Given the description of an element on the screen output the (x, y) to click on. 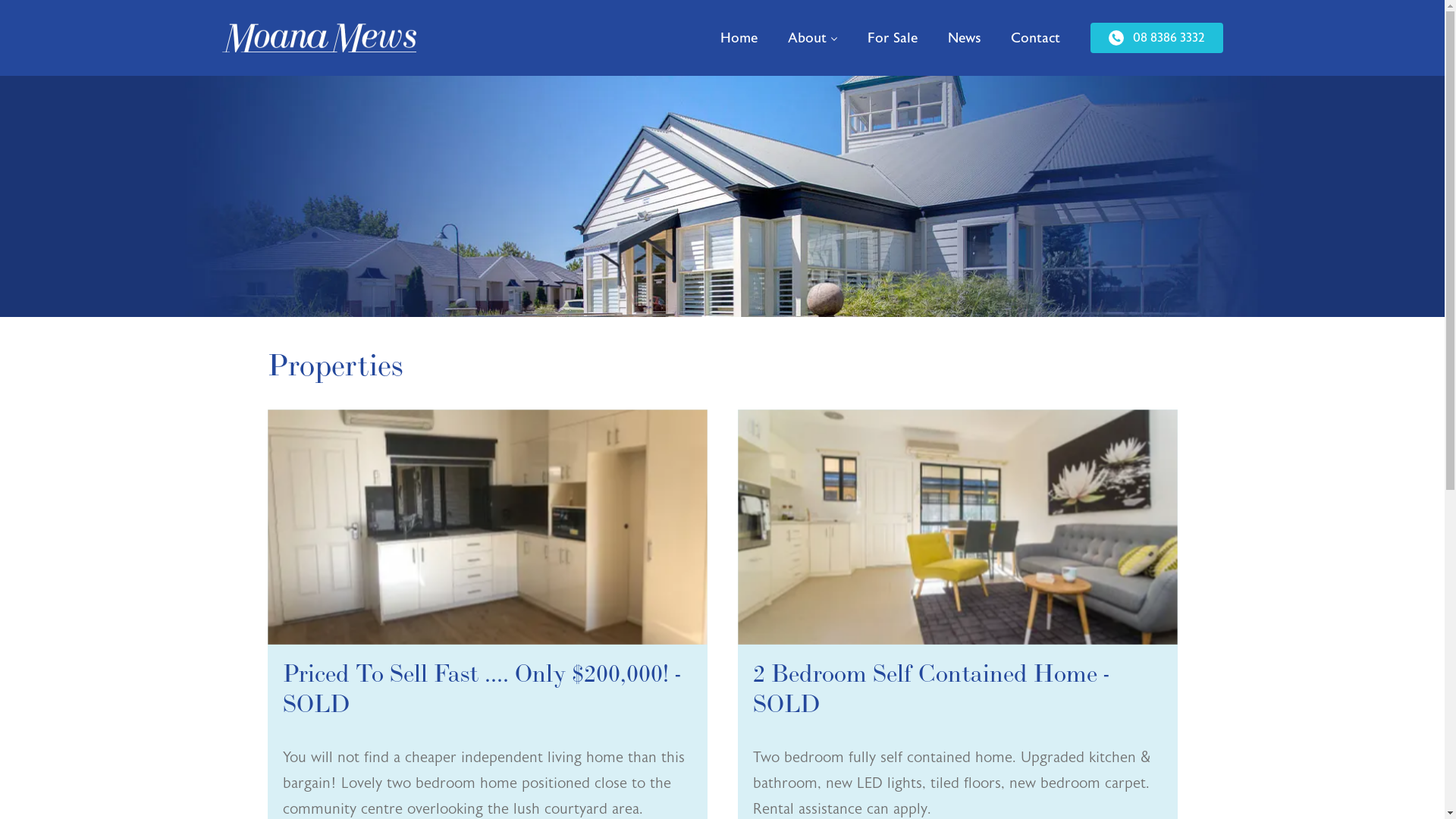
News Element type: text (963, 37)
For Sale Element type: text (892, 37)
08 8386 3332 Element type: text (1156, 37)
Contact Element type: text (1034, 37)
Home Element type: text (738, 37)
About Element type: text (811, 37)
